Given the description of an element on the screen output the (x, y) to click on. 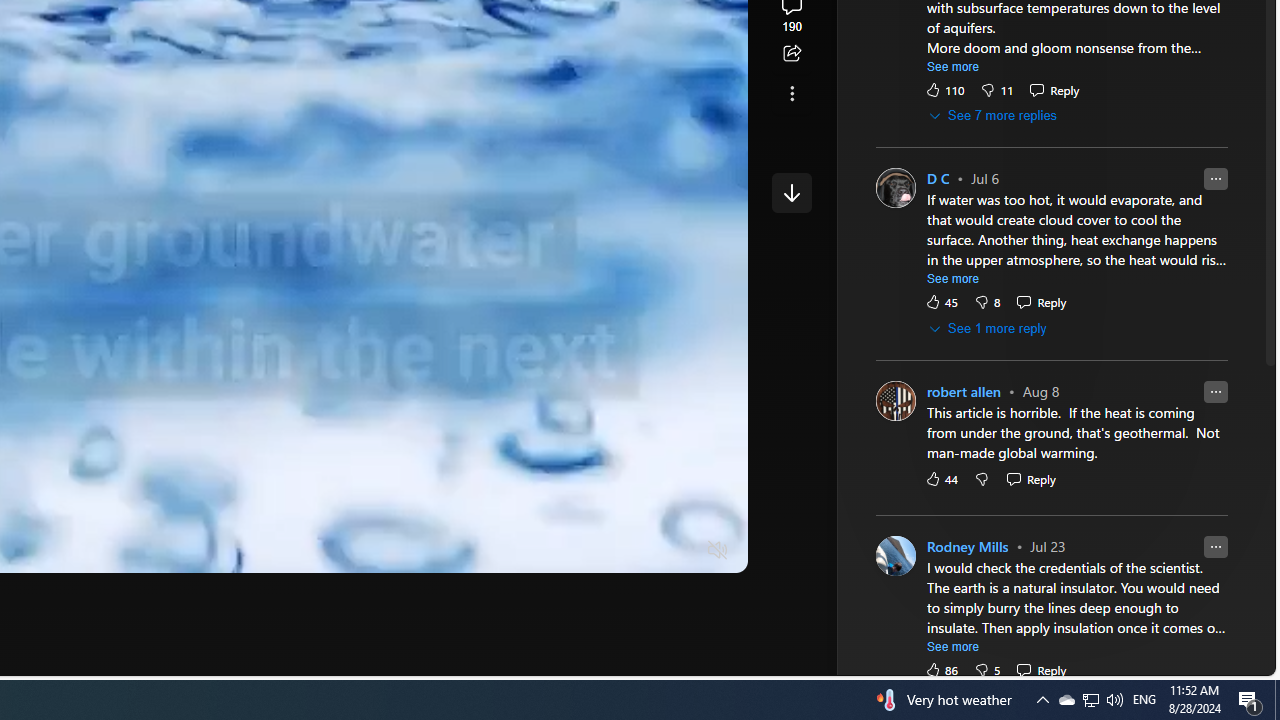
Reply Reply Comment (1041, 670)
See 7 more replies (994, 115)
Ad Choice (1015, 336)
Captions (639, 550)
45 Like (941, 302)
Share this story (791, 53)
